Given the description of an element on the screen output the (x, y) to click on. 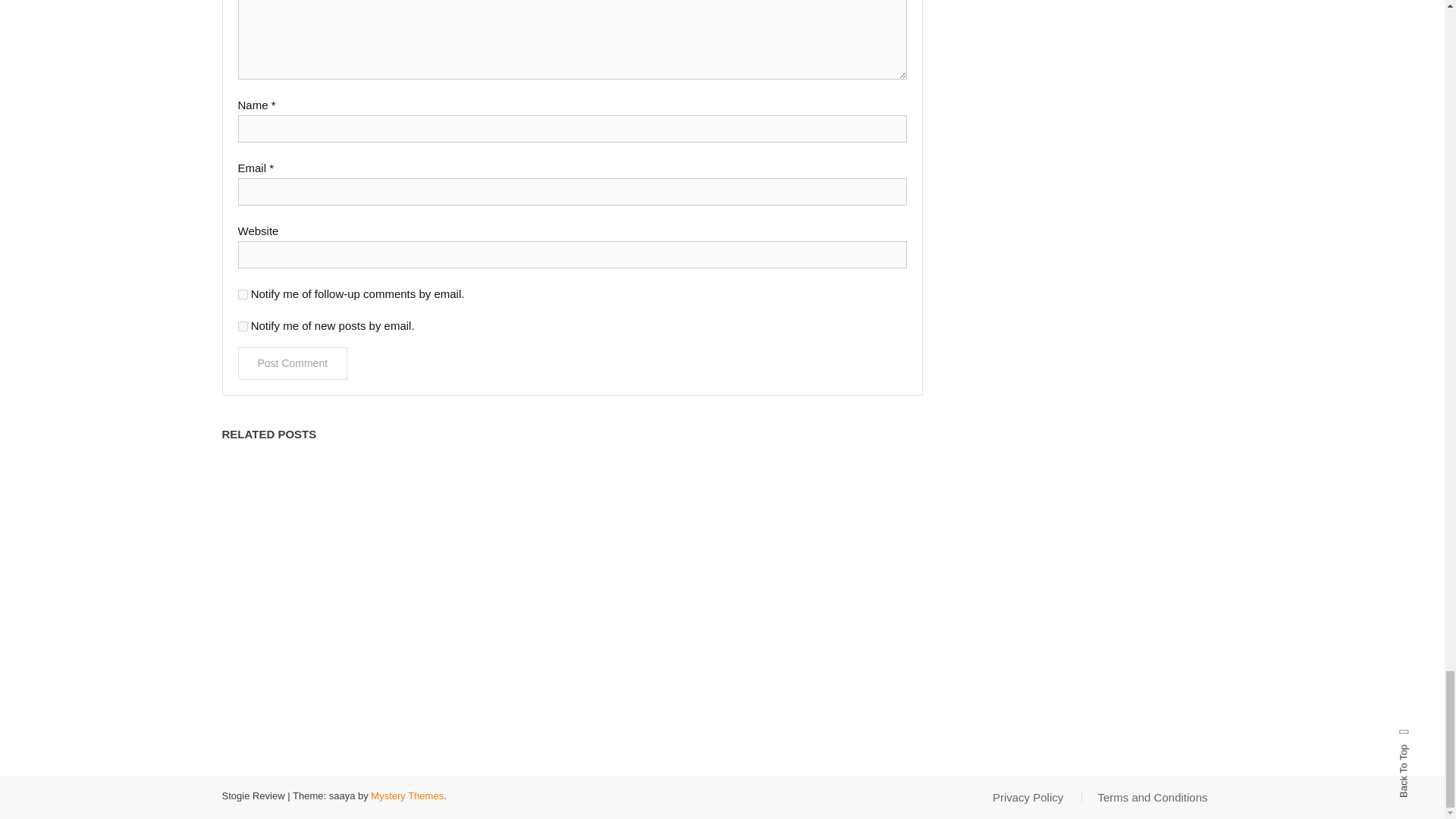
subscribe (242, 326)
Post Comment (292, 363)
subscribe (242, 294)
